Given the description of an element on the screen output the (x, y) to click on. 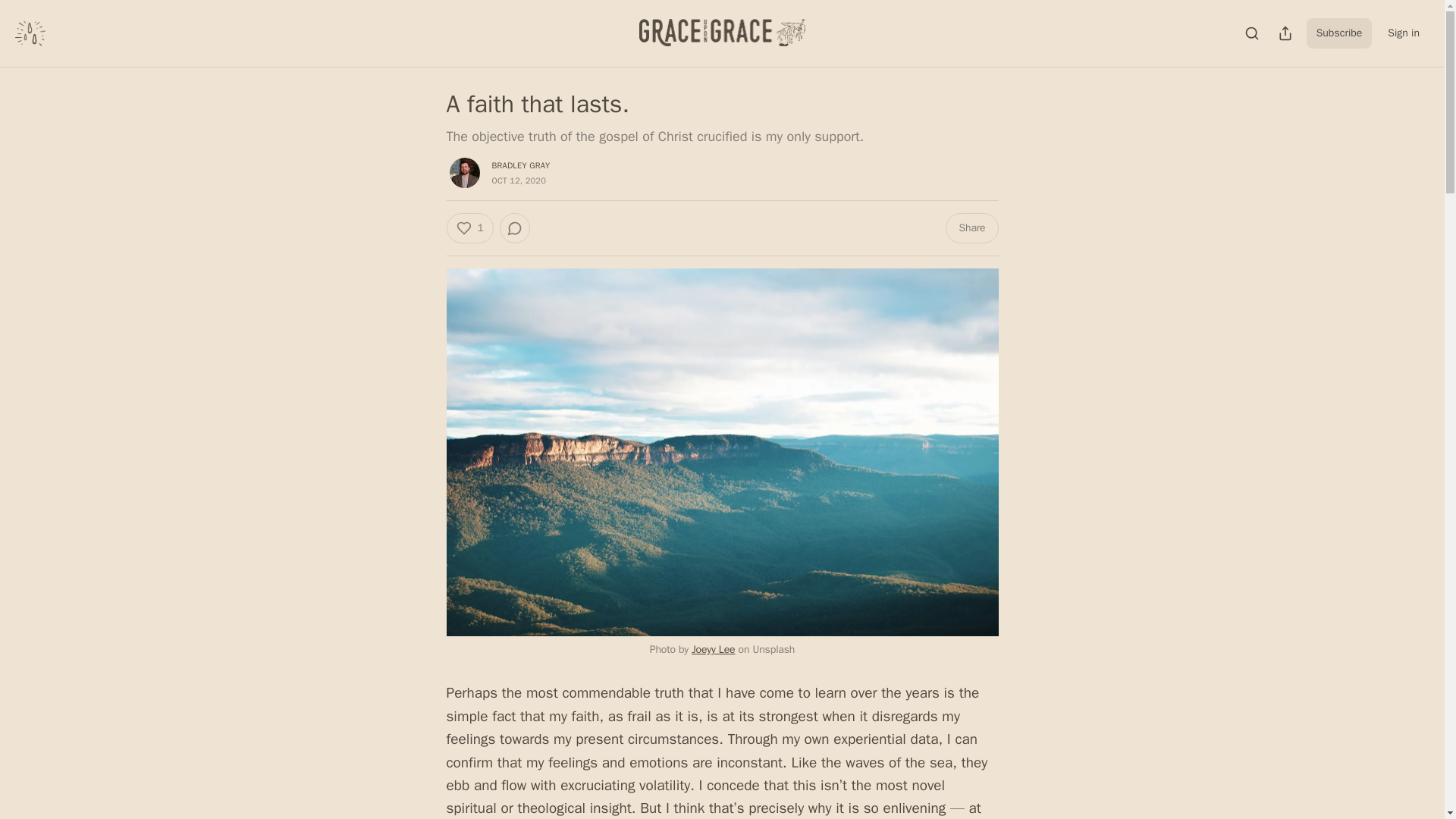
Joeyy Lee (713, 649)
BRADLEY GRAY (521, 164)
Sign in (1403, 33)
Share (970, 227)
Subscribe (1339, 33)
1 (469, 227)
